Given the description of an element on the screen output the (x, y) to click on. 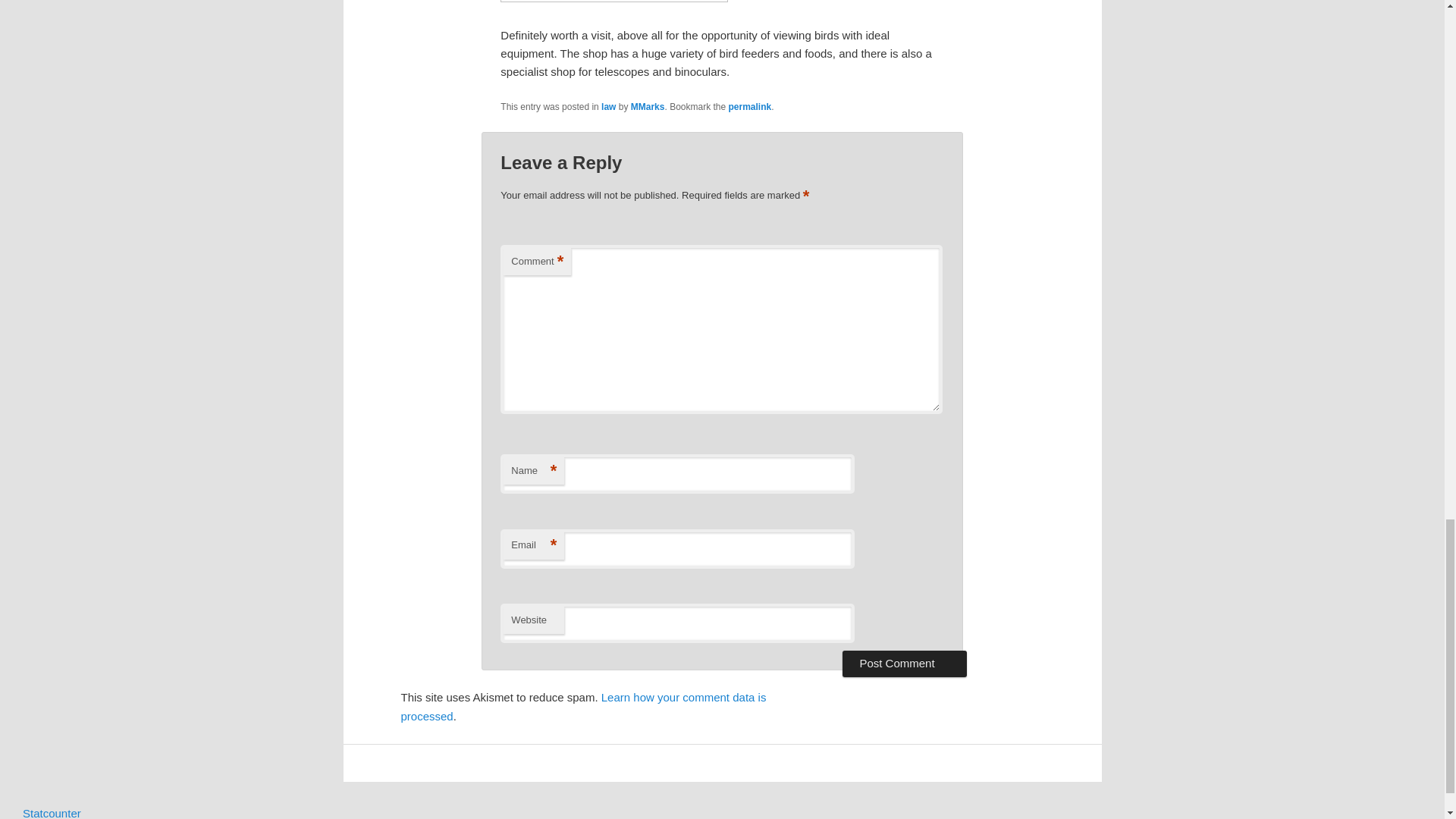
Post Comment (904, 663)
Post Comment (904, 663)
law (608, 106)
MMarks (647, 106)
Learn how your comment data is processed (582, 706)
permalink (750, 106)
